Given the description of an element on the screen output the (x, y) to click on. 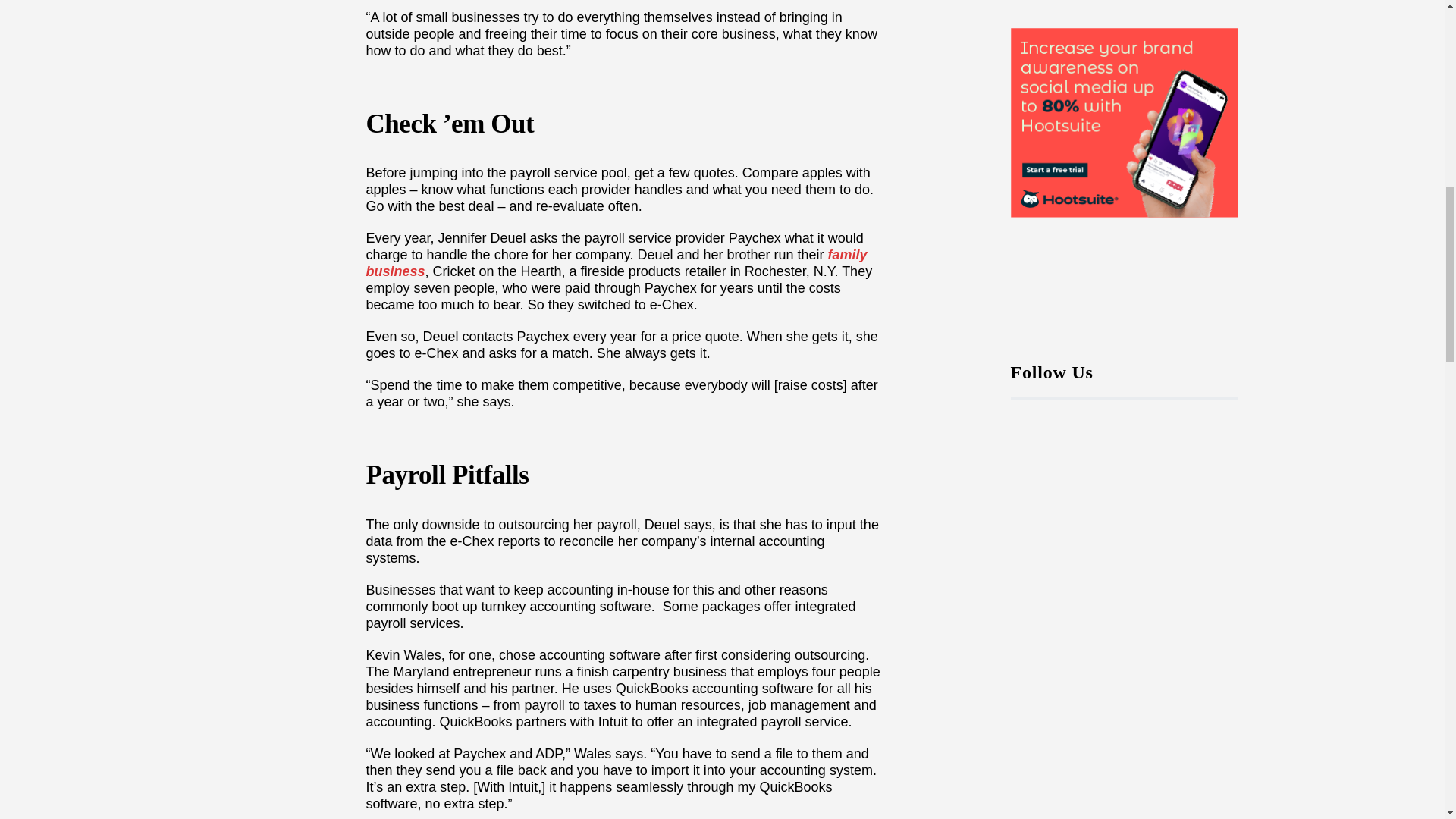
family business (615, 263)
